Given the description of an element on the screen output the (x, y) to click on. 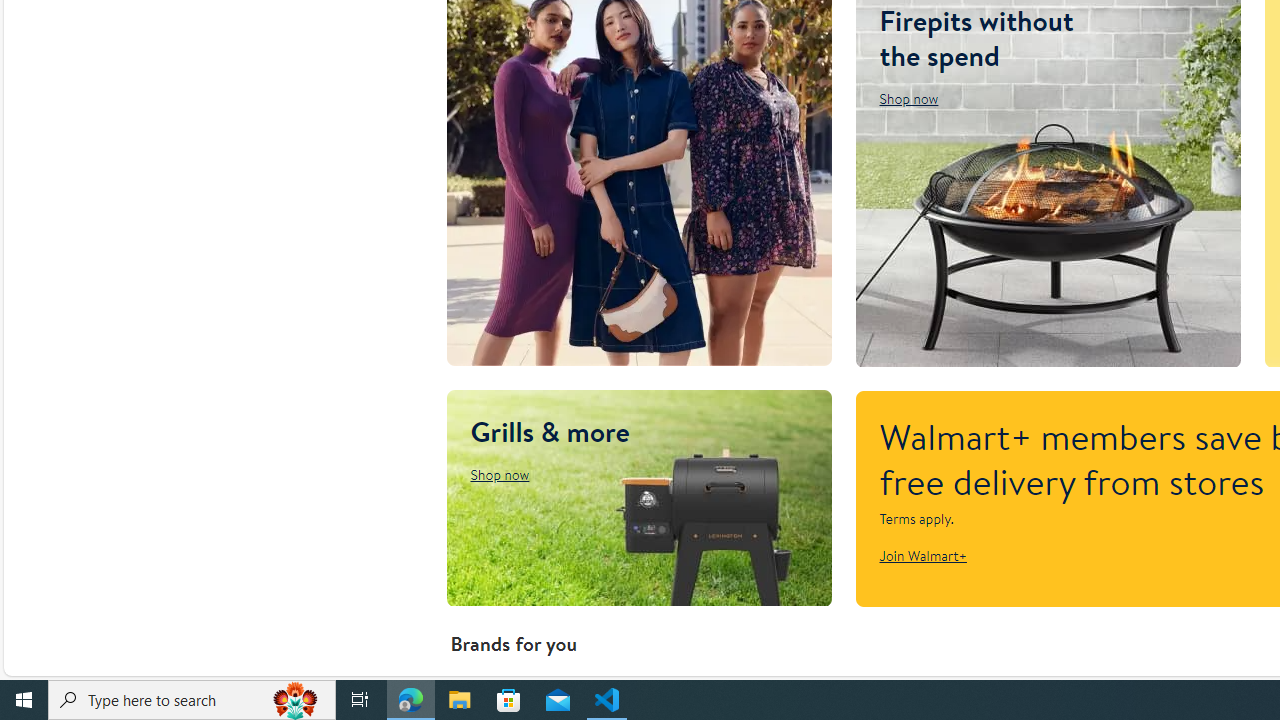
Shop now Firepits without the spend (909, 97)
Shop now Grills & more (499, 474)
